Given the description of an element on the screen output the (x, y) to click on. 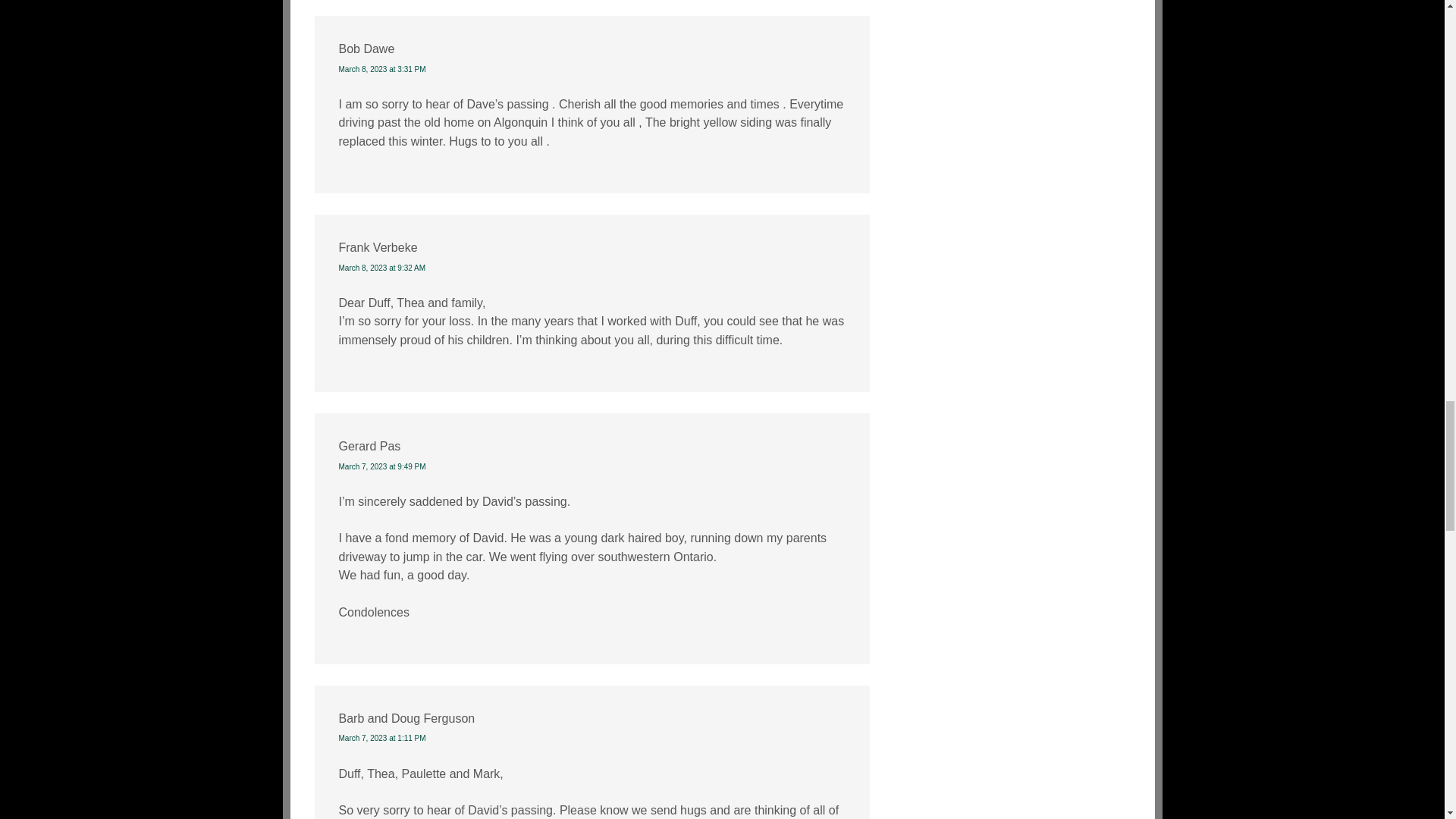
March 8, 2023 at 3:31 PM (381, 69)
March 8, 2023 at 9:32 AM (381, 267)
March 7, 2023 at 9:49 PM (381, 466)
